Given the description of an element on the screen output the (x, y) to click on. 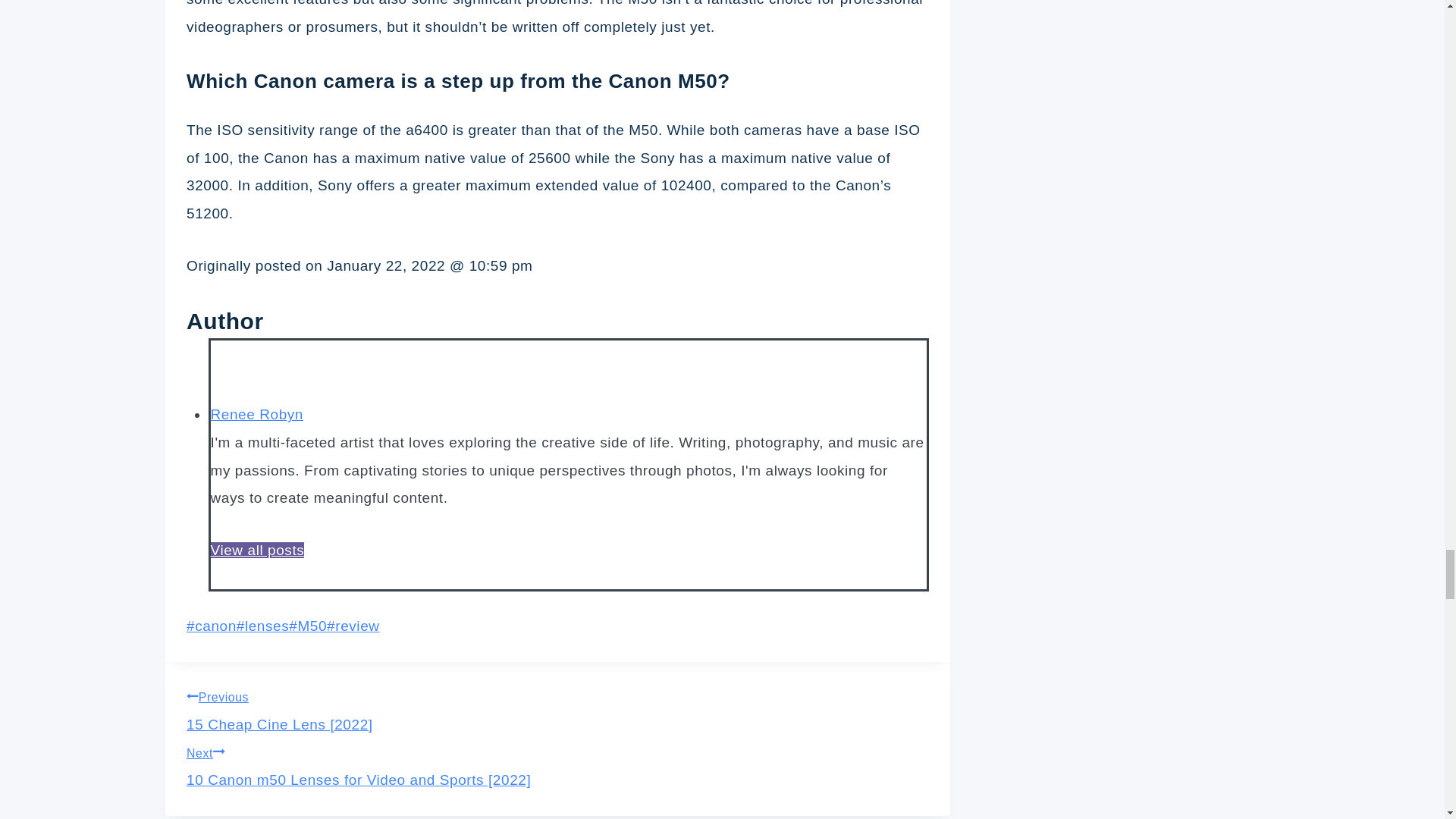
M50 (307, 625)
View all posts (257, 549)
Renee Robyn (256, 414)
View all posts (257, 549)
lenses (261, 625)
review (352, 625)
canon (210, 625)
Renee Robyn (256, 414)
